Given the description of an element on the screen output the (x, y) to click on. 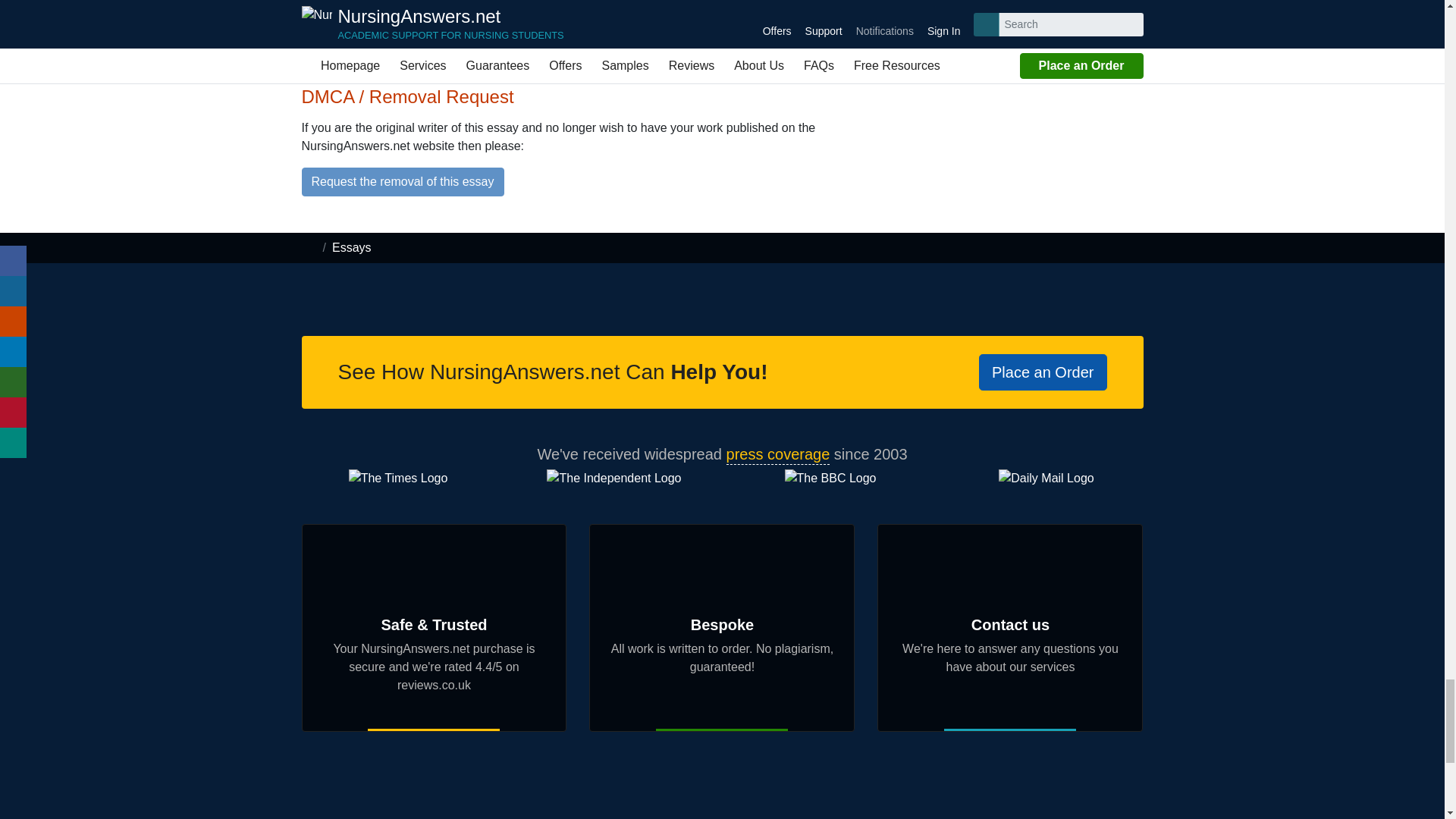
homepage link (309, 246)
